Given the description of an element on the screen output the (x, y) to click on. 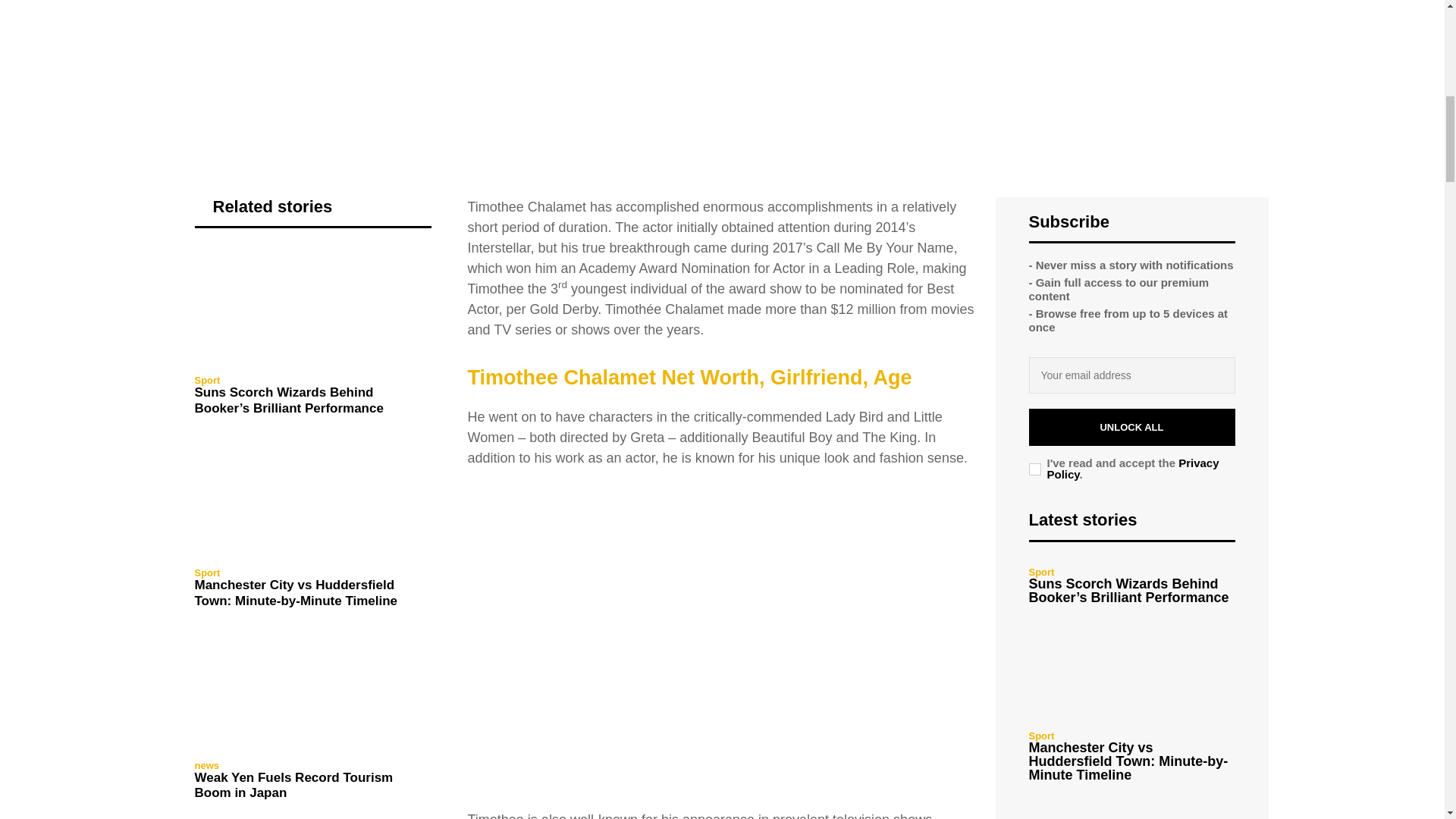
Sport (206, 379)
